Given the description of an element on the screen output the (x, y) to click on. 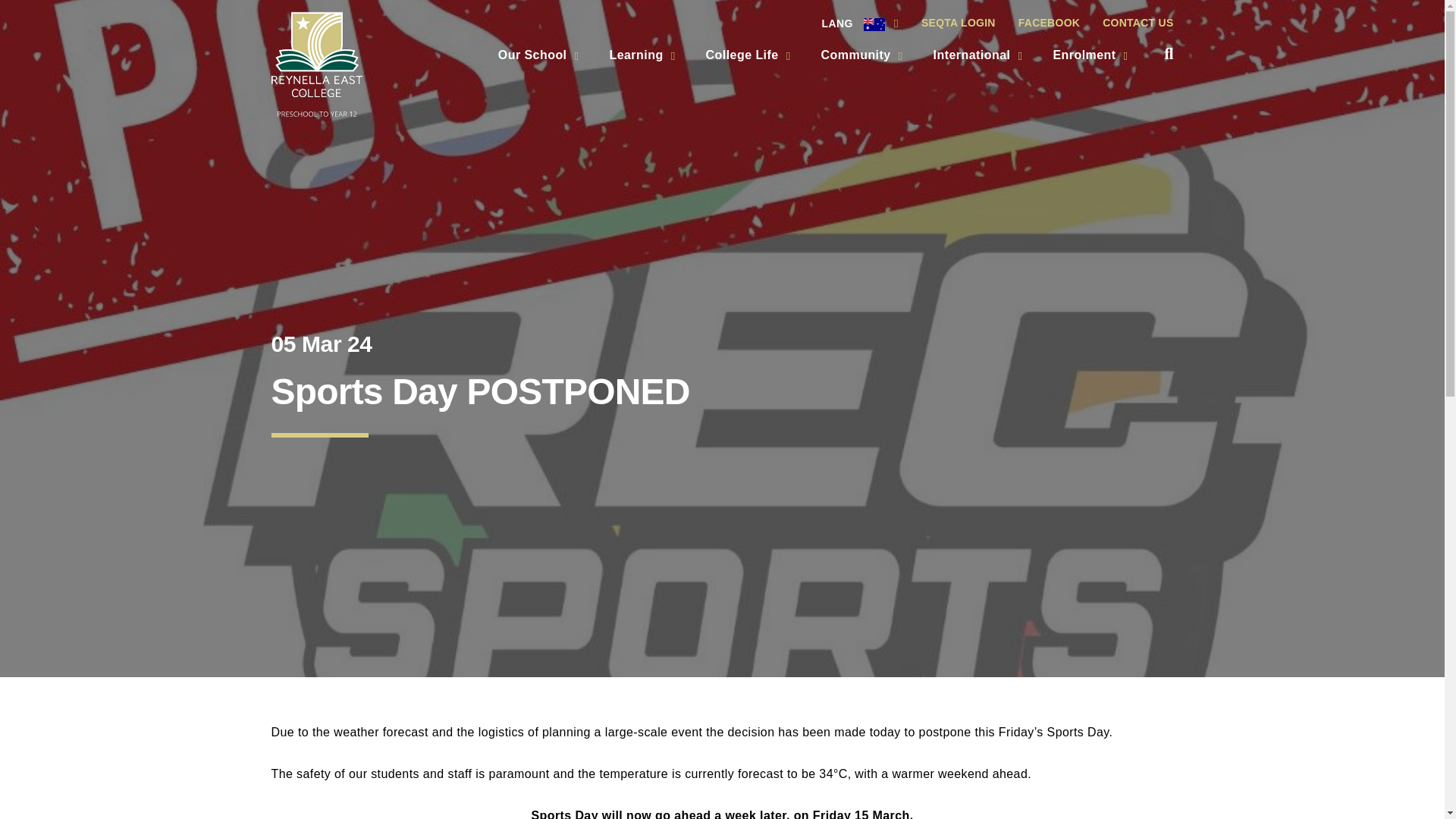
SEQTA LOGIN (958, 23)
Learning (642, 55)
CONTACT US (1131, 23)
Our School (538, 55)
FACEBOOK (1048, 23)
College Life (748, 55)
